Given the description of an element on the screen output the (x, y) to click on. 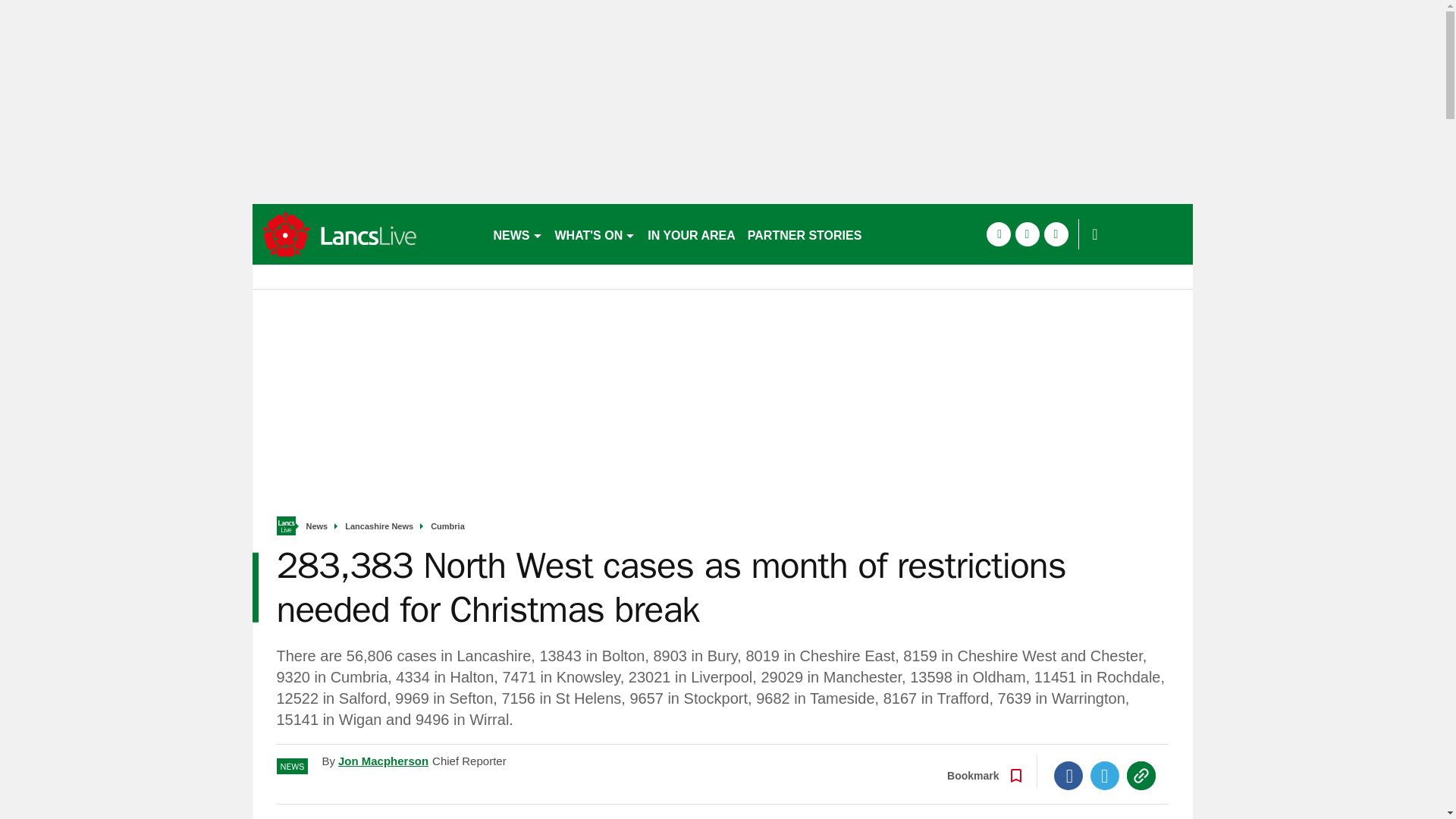
WHAT'S ON (595, 233)
accrington (365, 233)
IN YOUR AREA (691, 233)
Facebook (1068, 775)
twitter (1026, 233)
instagram (1055, 233)
facebook (997, 233)
Twitter (1104, 775)
PARTNER STORIES (804, 233)
NEWS (517, 233)
